Given the description of an element on the screen output the (x, y) to click on. 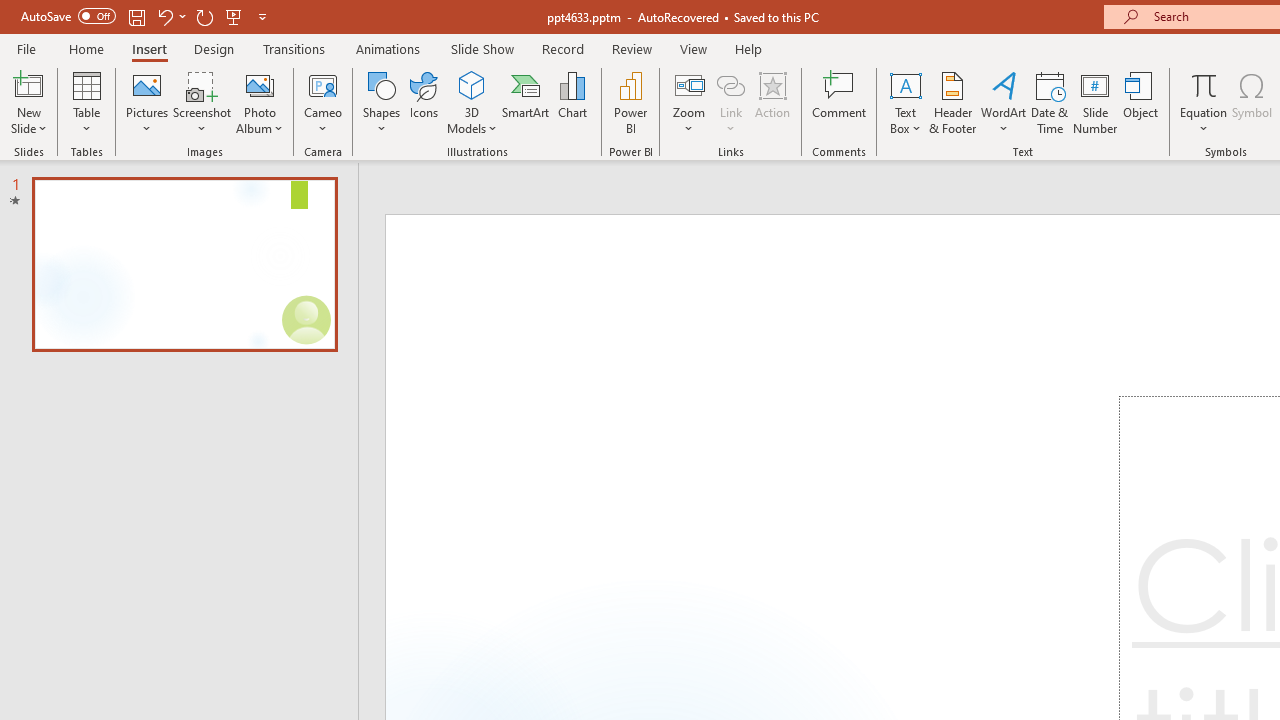
Slide Number (1095, 102)
WordArt (1004, 102)
Action (772, 102)
Chart... (572, 102)
Draw Horizontal Text Box (905, 84)
